Given the description of an element on the screen output the (x, y) to click on. 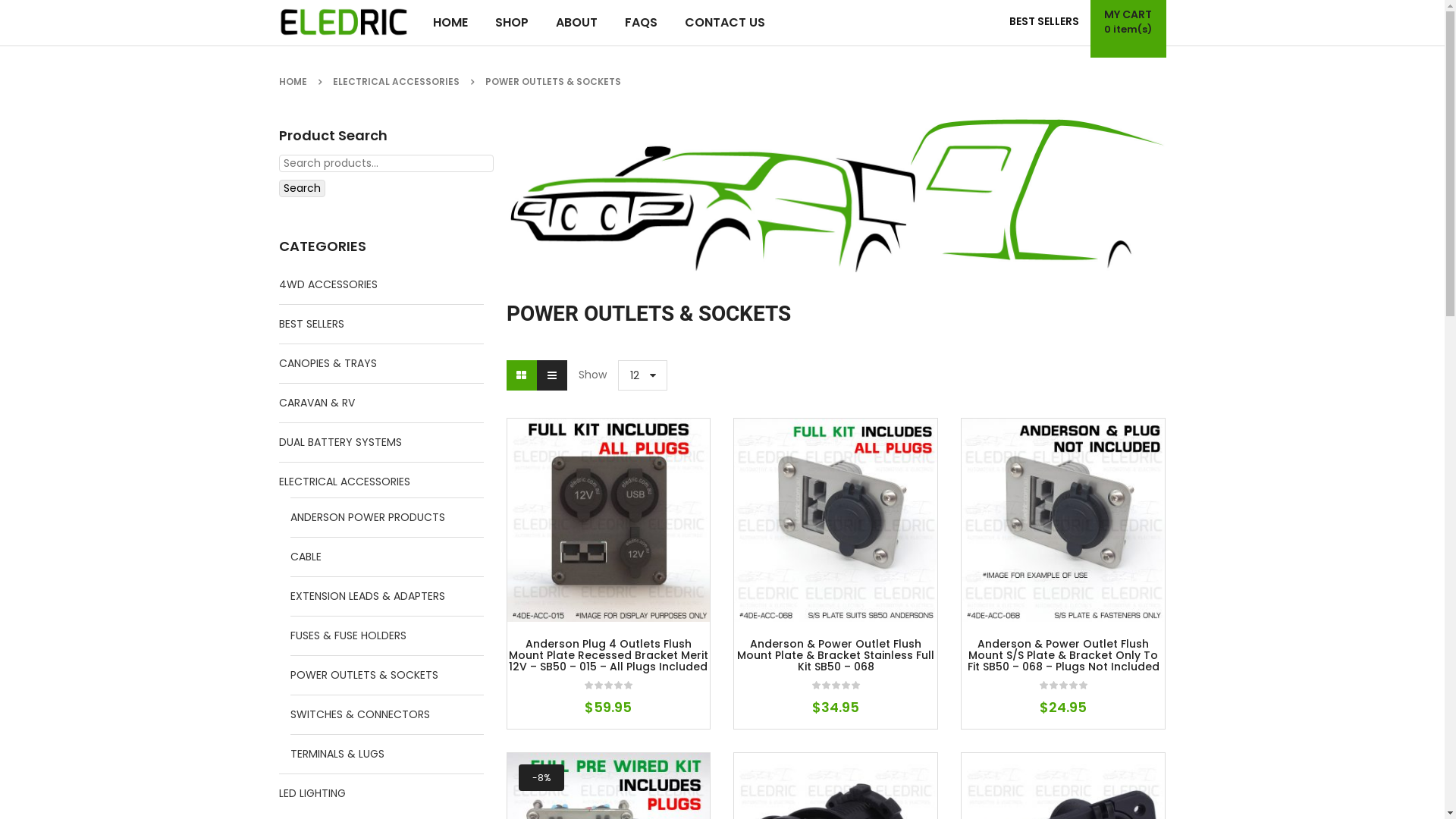
4WD ACCESSORIES Element type: text (328, 284)
DUAL BATTERY SYSTEMS Element type: text (340, 442)
List view Element type: hover (551, 375)
LED LIGHTING Element type: text (312, 793)
Search Element type: text (302, 188)
SHOP Element type: text (510, 22)
BEST SELLERS Element type: text (1043, 21)
ABOUT Element type: text (575, 22)
CABLE Element type: text (304, 556)
TERMINALS & LUGS Element type: text (336, 754)
SWITCHES & CONNECTORS Element type: text (359, 714)
CARAVAN & RV Element type: text (316, 403)
Grid view Element type: hover (521, 375)
12 Element type: text (642, 374)
CANOPIES & TRAYS Element type: text (327, 363)
EXTENSION LEADS & ADAPTERS Element type: text (366, 596)
CONTACT US Element type: text (724, 22)
ANDERSON POWER PRODUCTS Element type: text (366, 517)
FAQS Element type: text (641, 22)
BEST SELLERS Element type: text (311, 324)
POWER OUTLETS & SOCKETS Element type: text (363, 675)
HOME Element type: text (293, 81)
ELECTRICAL ACCESSORIES Element type: text (344, 481)
FUSES & FUSE HOLDERS Element type: text (347, 635)
HOME Element type: text (449, 22)
ELECTRICAL ACCESSORIES Element type: text (395, 81)
